Given the description of an element on the screen output the (x, y) to click on. 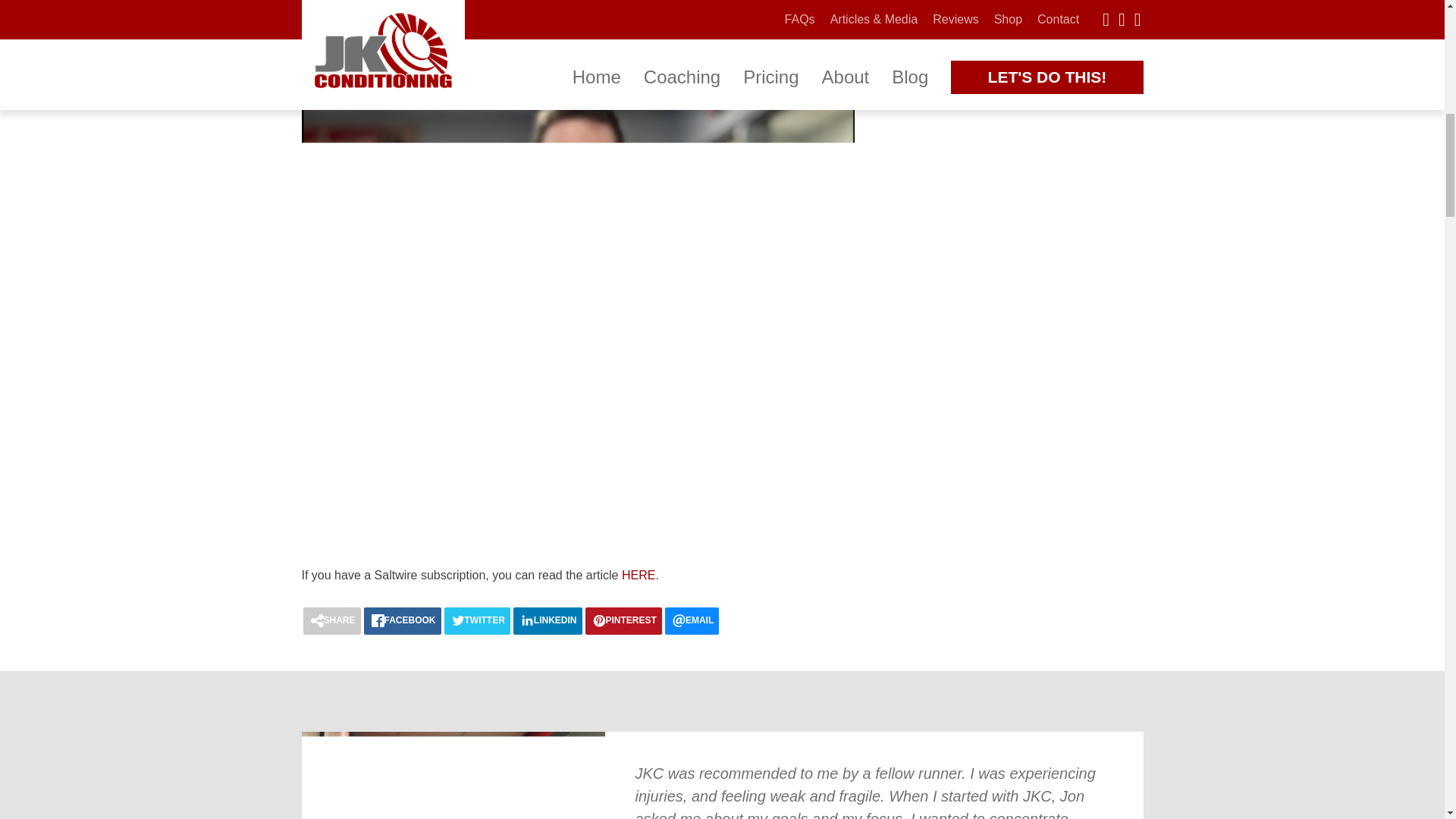
HERE (638, 574)
PINTEREST (623, 620)
FACEBOOK (402, 620)
SHARE (331, 620)
EMAIL (692, 620)
TWITTER (477, 620)
LINKEDIN (547, 620)
